Given the description of an element on the screen output the (x, y) to click on. 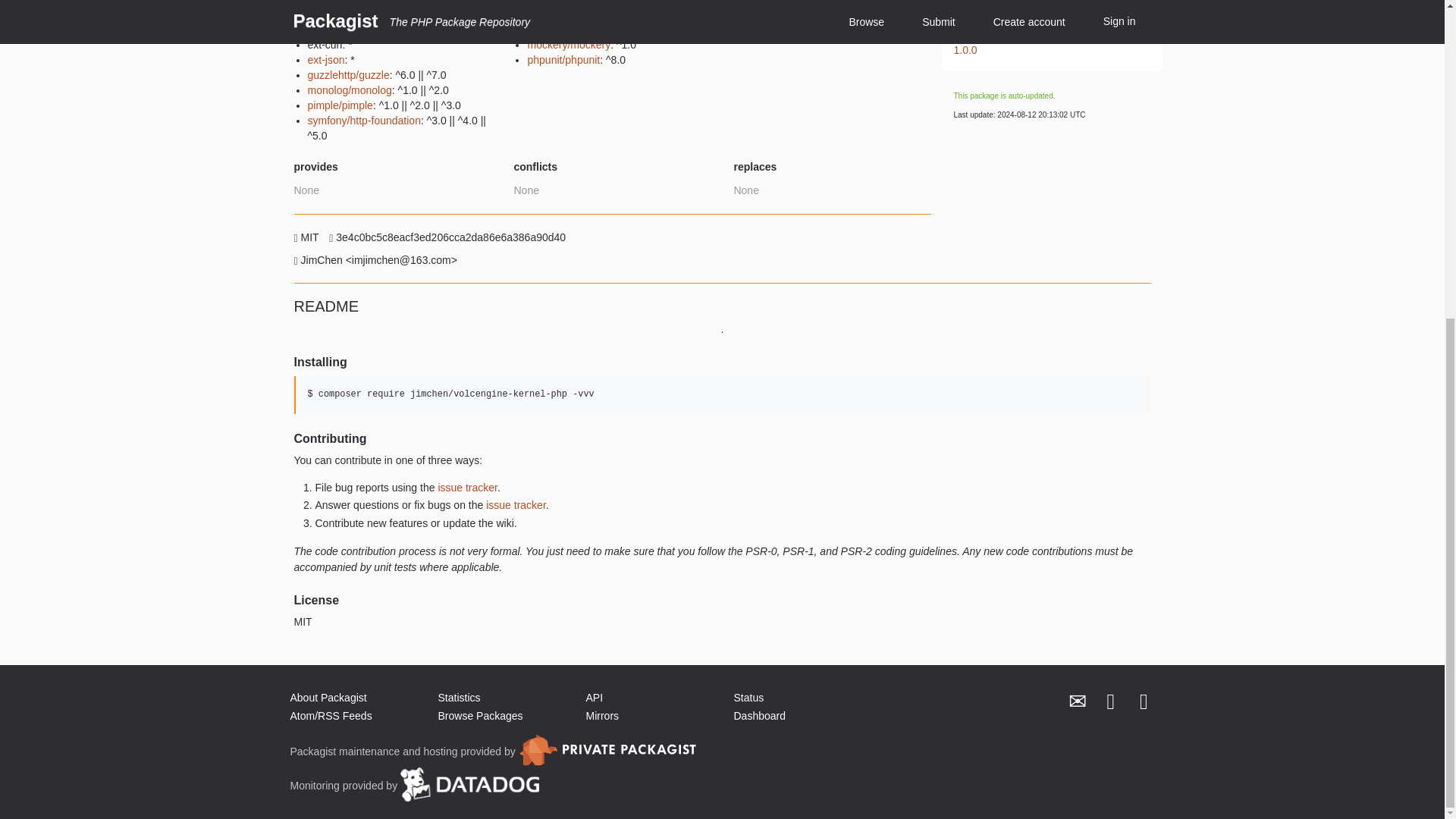
issue tracker (467, 487)
GitHub (1143, 702)
Contact (1078, 702)
ext-json (326, 60)
1.0.0 (1043, 50)
1.0.1 (1043, 31)
1.0.2 (1043, 11)
